Given the description of an element on the screen output the (x, y) to click on. 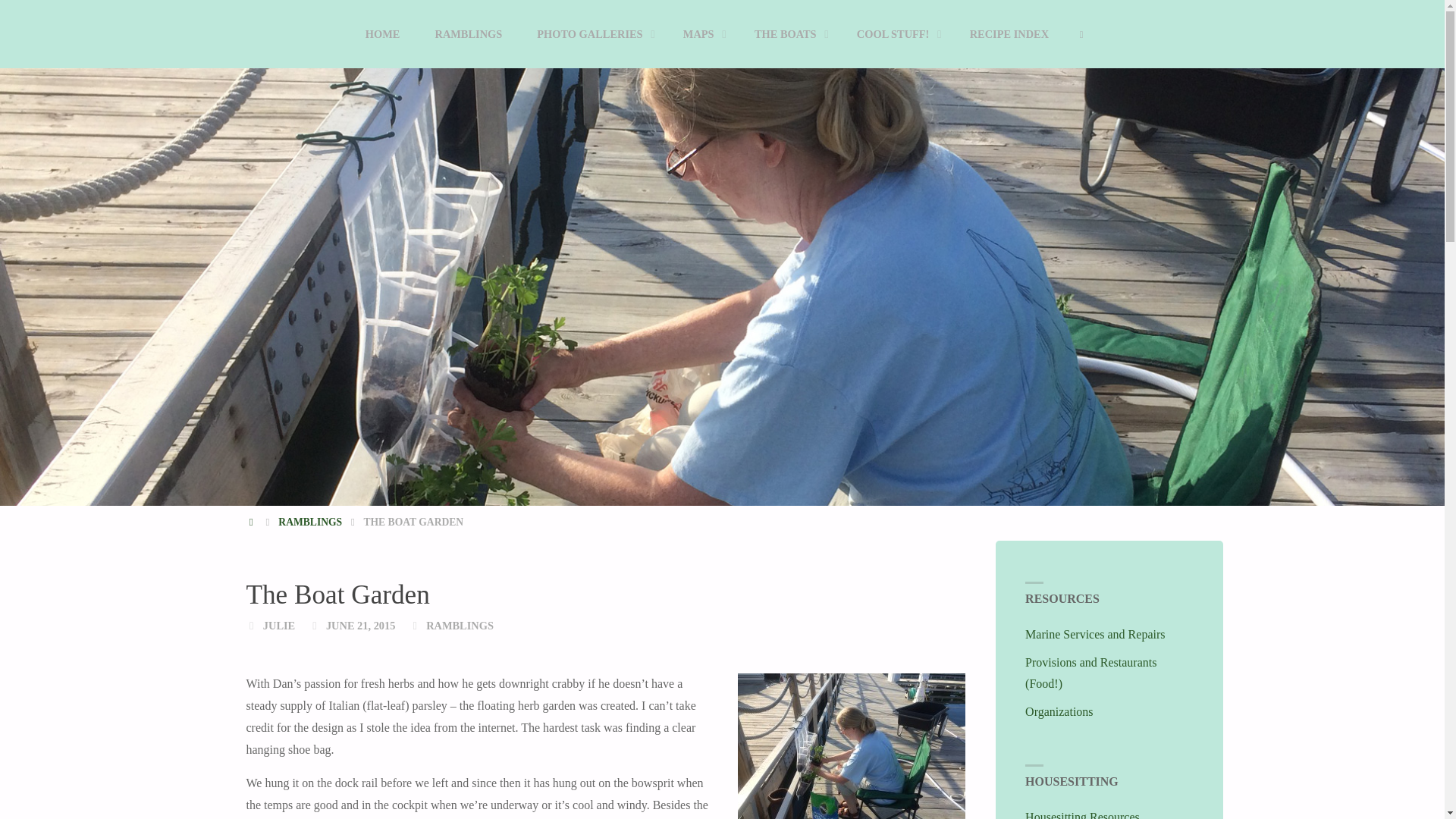
Home (252, 521)
Adventures of a Wandering Loon (282, 60)
View all posts by Julie (279, 625)
